Given the description of an element on the screen output the (x, y) to click on. 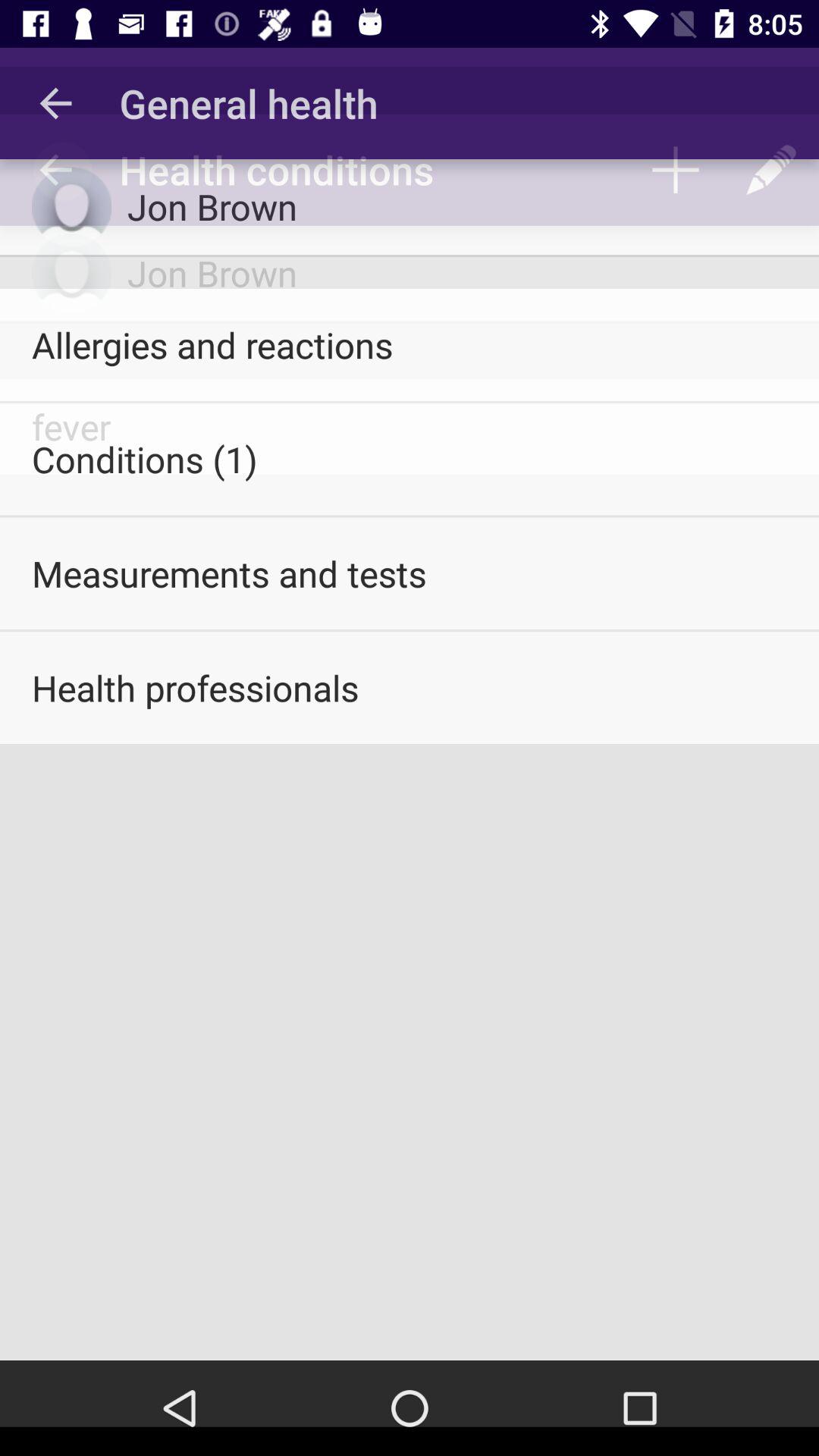
click the icon below conditions (1) (409, 573)
